Given the description of an element on the screen output the (x, y) to click on. 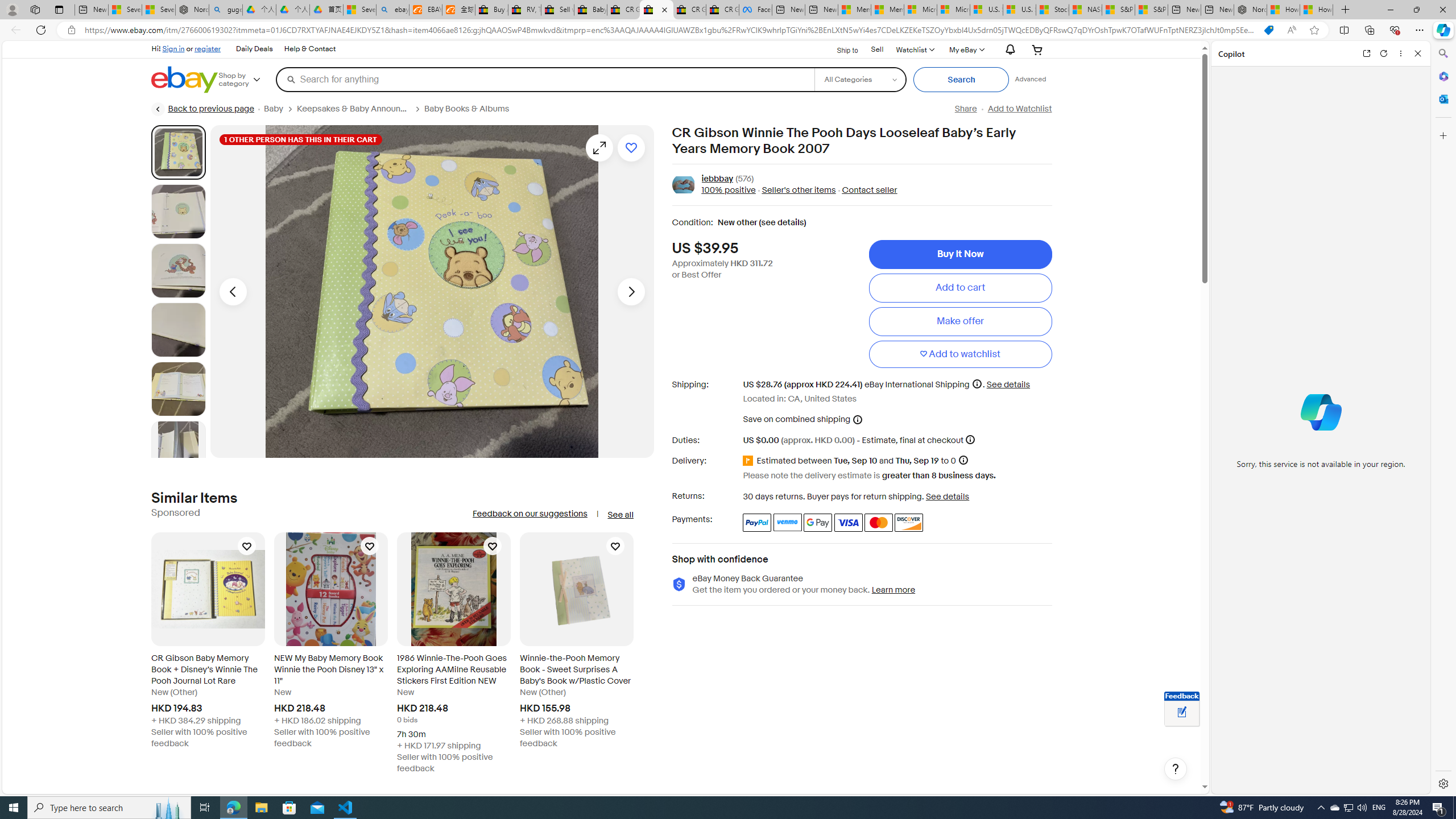
(576) (744, 179)
Picture 6 of 22 (178, 447)
How to Use a Monitor With Your Closed Laptop (1316, 9)
Class: ux-action (682, 184)
See all (620, 514)
Search for anything (544, 78)
Ship to (839, 48)
Seller's other items (798, 190)
Delivery alert flag (749, 460)
My eBayExpand My eBay (966, 49)
WatchlistExpand Watch List (914, 49)
